Given the description of an element on the screen output the (x, y) to click on. 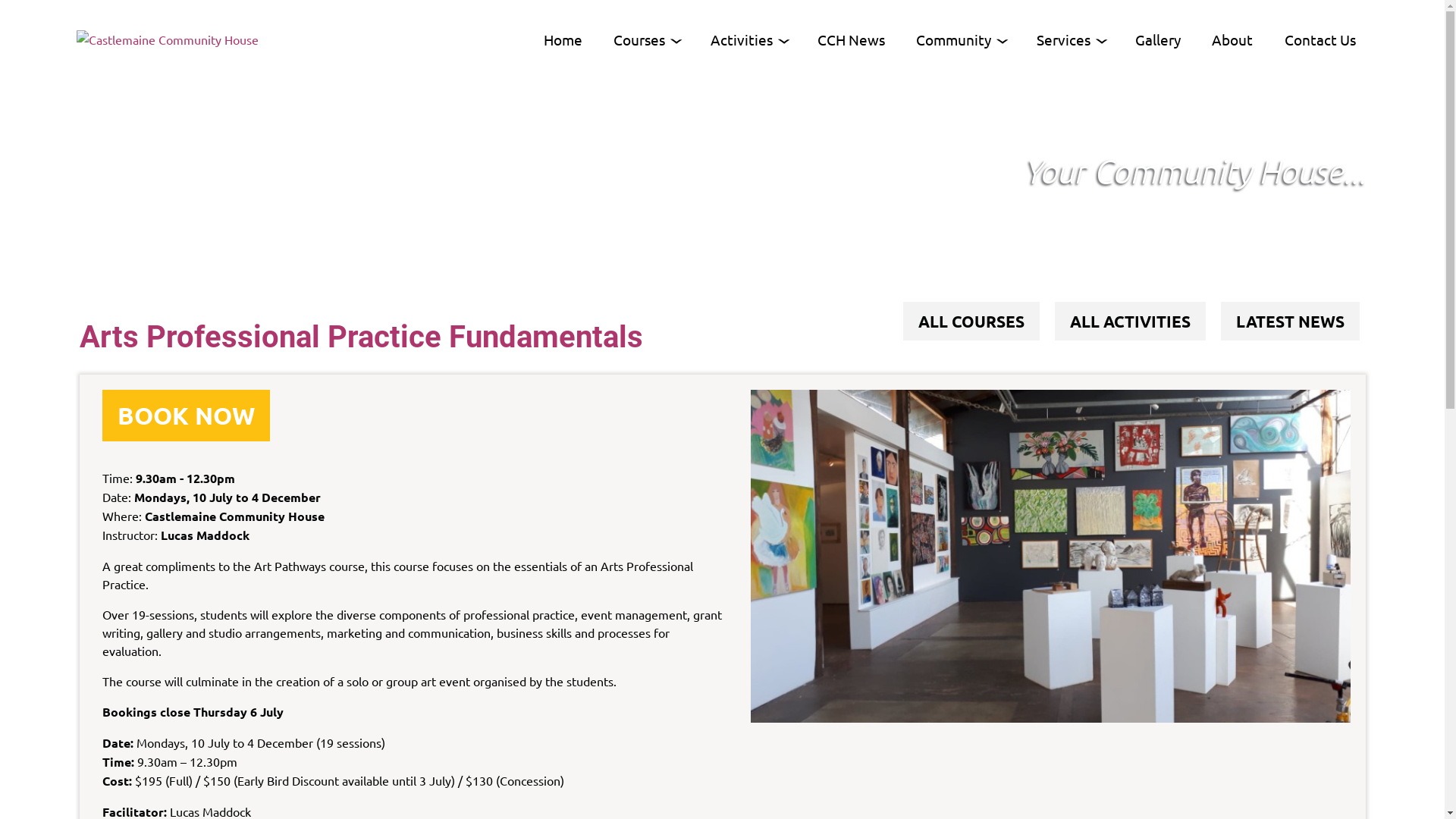
About Element type: text (1231, 39)
Community Element type: text (956, 39)
Courses Element type: text (642, 39)
Services Element type: text (1066, 39)
Gallery Element type: text (1157, 39)
BOOK NOW Element type: text (185, 415)
CCH News Element type: text (850, 39)
LATEST NEWS Element type: text (1289, 320)
ALL COURSES Element type: text (970, 320)
Home Element type: text (562, 39)
Activities Element type: text (744, 39)
ALL ACTIVITIES Element type: text (1129, 320)
Skip to content Element type: text (5, 5)
Contact Us Element type: text (1319, 39)
